Given the description of an element on the screen output the (x, y) to click on. 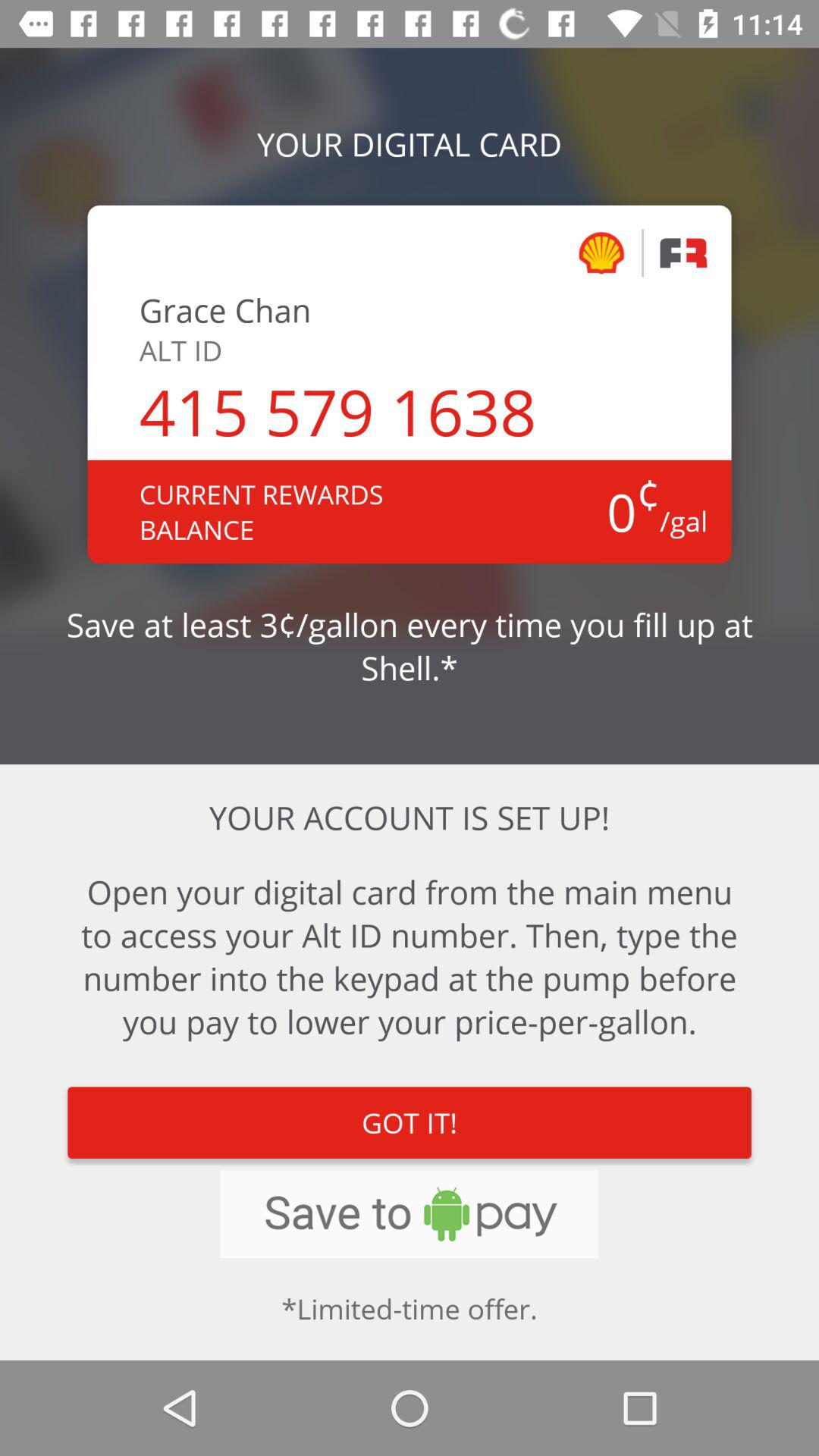
turn on item below open your digital icon (409, 1122)
